Given the description of an element on the screen output the (x, y) to click on. 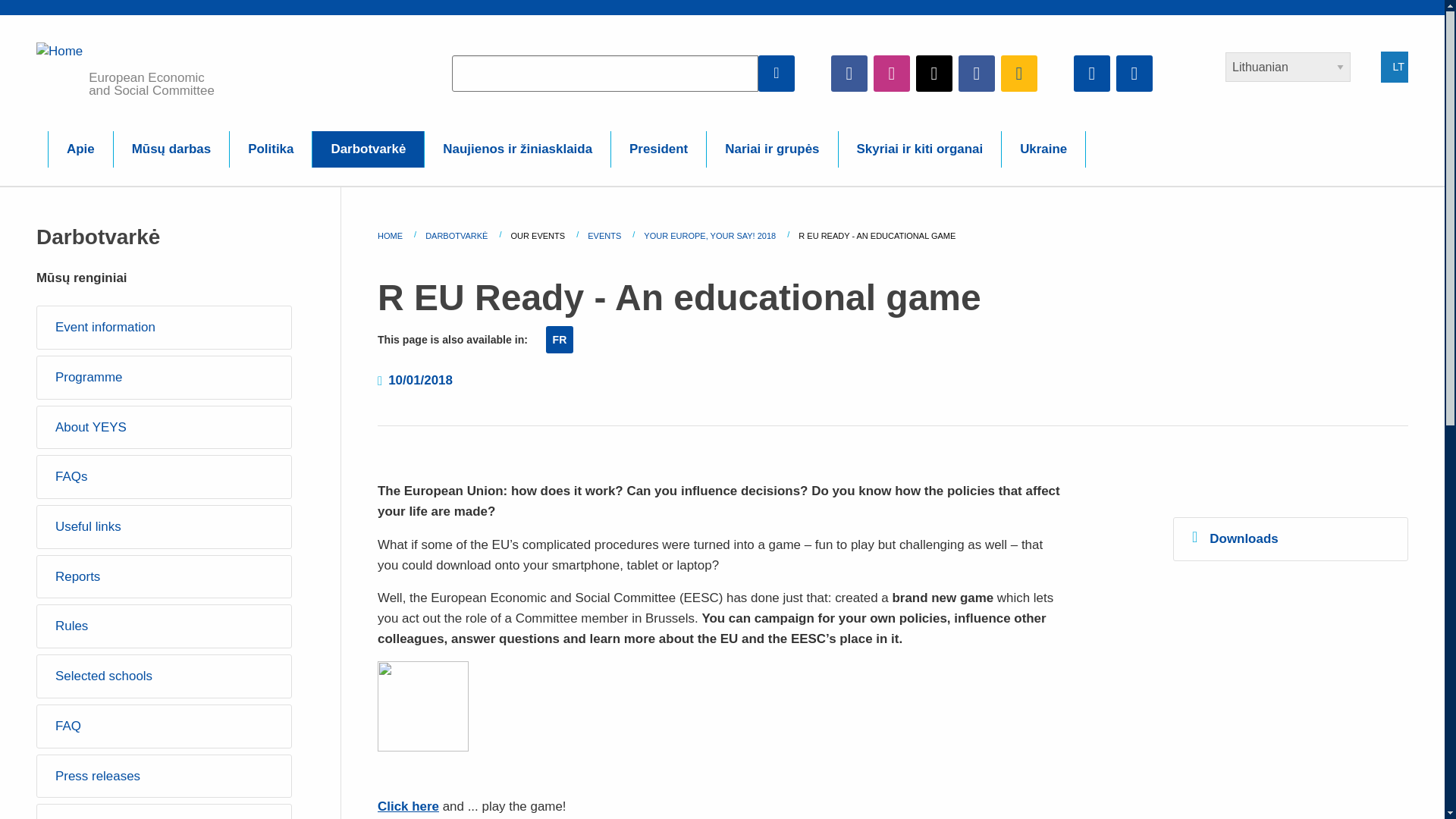
Apply (776, 72)
